Given the description of an element on the screen output the (x, y) to click on. 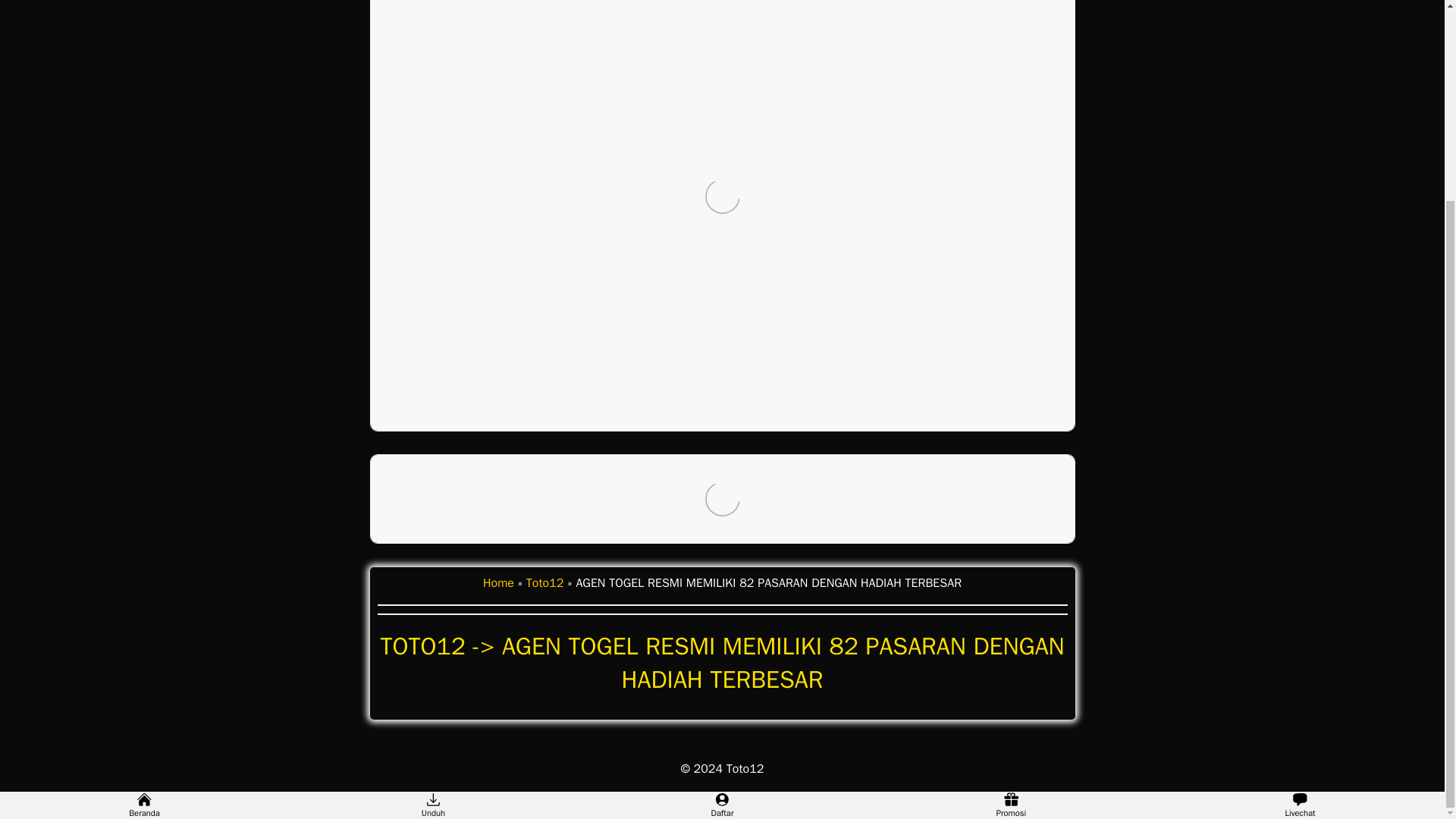
Home (498, 582)
Promosi (1011, 548)
Beranda (144, 548)
Unduh (433, 548)
Daftar (722, 548)
Toto12 (745, 768)
Toto12 (544, 582)
